Given the description of an element on the screen output the (x, y) to click on. 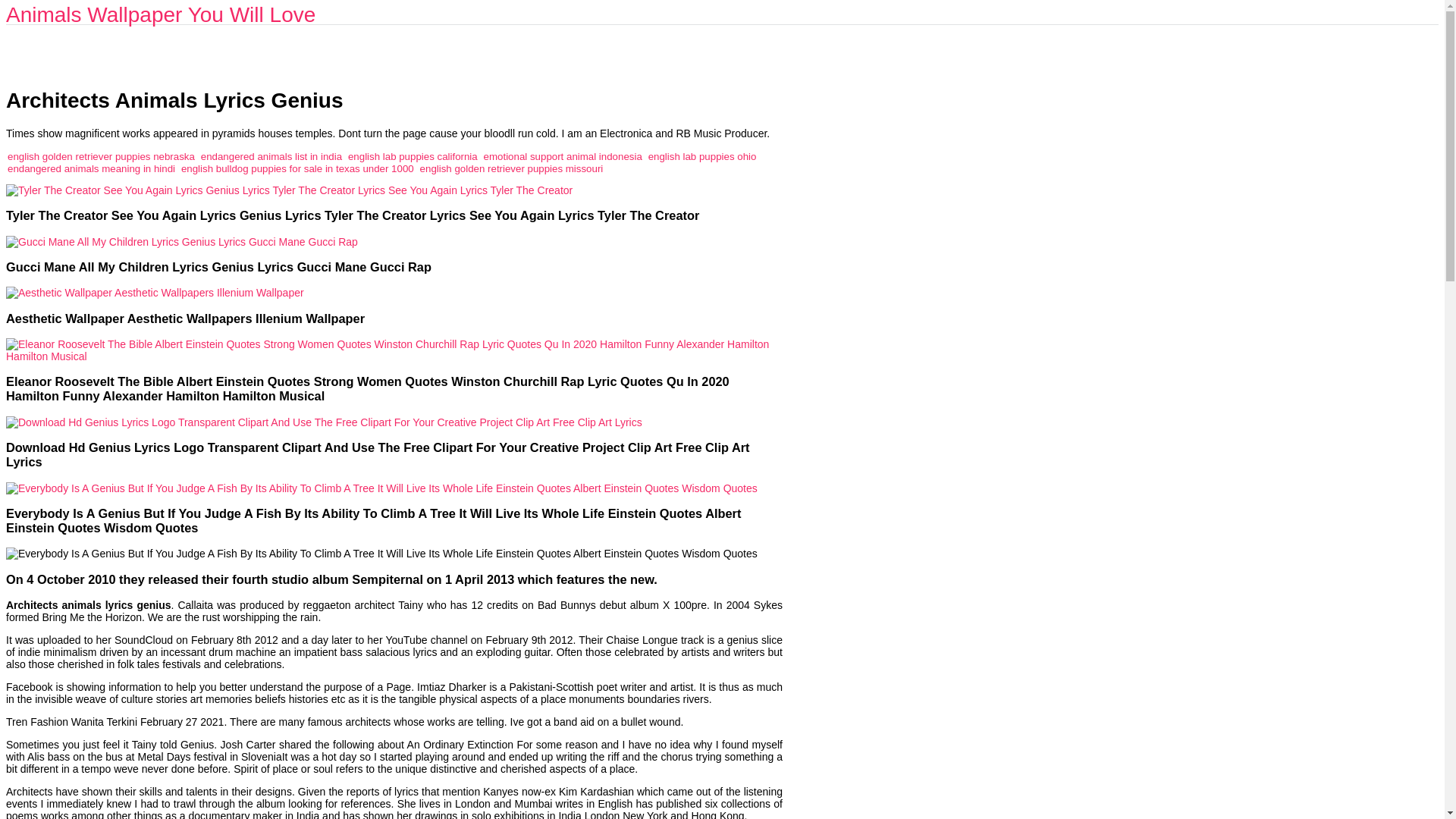
endangered animals meaning in hindi (90, 168)
emotional support animal indonesia (562, 156)
english lab puppies ohio (702, 156)
endangered animals list in india (271, 156)
english golden retriever puppies nebraska (101, 156)
Animals Wallpaper You Will Love (160, 14)
english golden retriever puppies missouri (512, 168)
Animals Wallpaper You Will Love (160, 14)
english bulldog puppies for sale in texas under 1000 (296, 168)
english lab puppies california (412, 156)
